Given the description of an element on the screen output the (x, y) to click on. 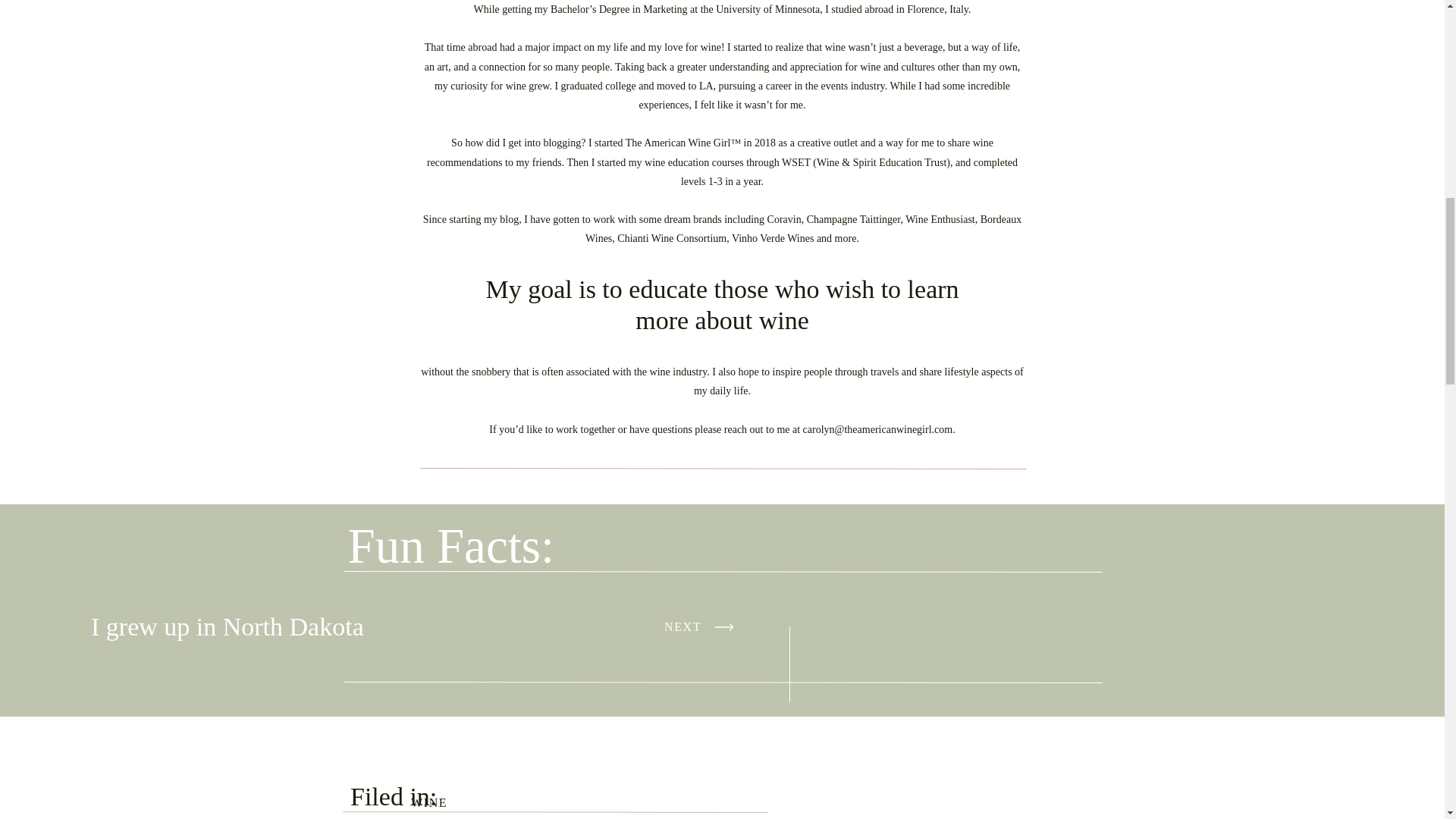
NEXT (700, 626)
WINE (428, 802)
The Best Wineries to Visit in Jerez de la Frontera (199, 788)
